Given the description of an element on the screen output the (x, y) to click on. 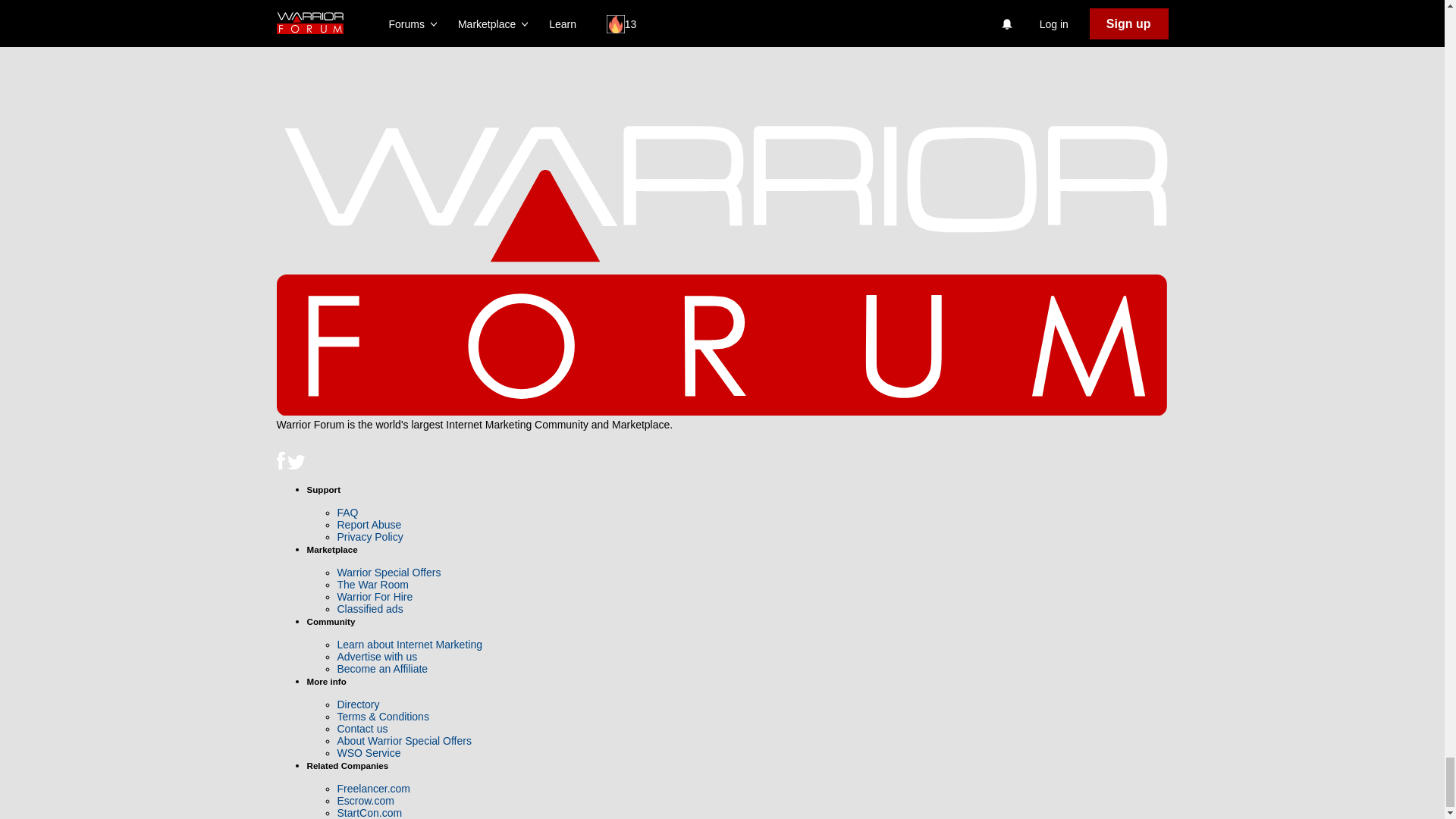
Warrior Forum on Twitter (295, 466)
Bird (295, 462)
Facebook (279, 460)
Warrior Forum on Facebook (281, 466)
